Given the description of an element on the screen output the (x, y) to click on. 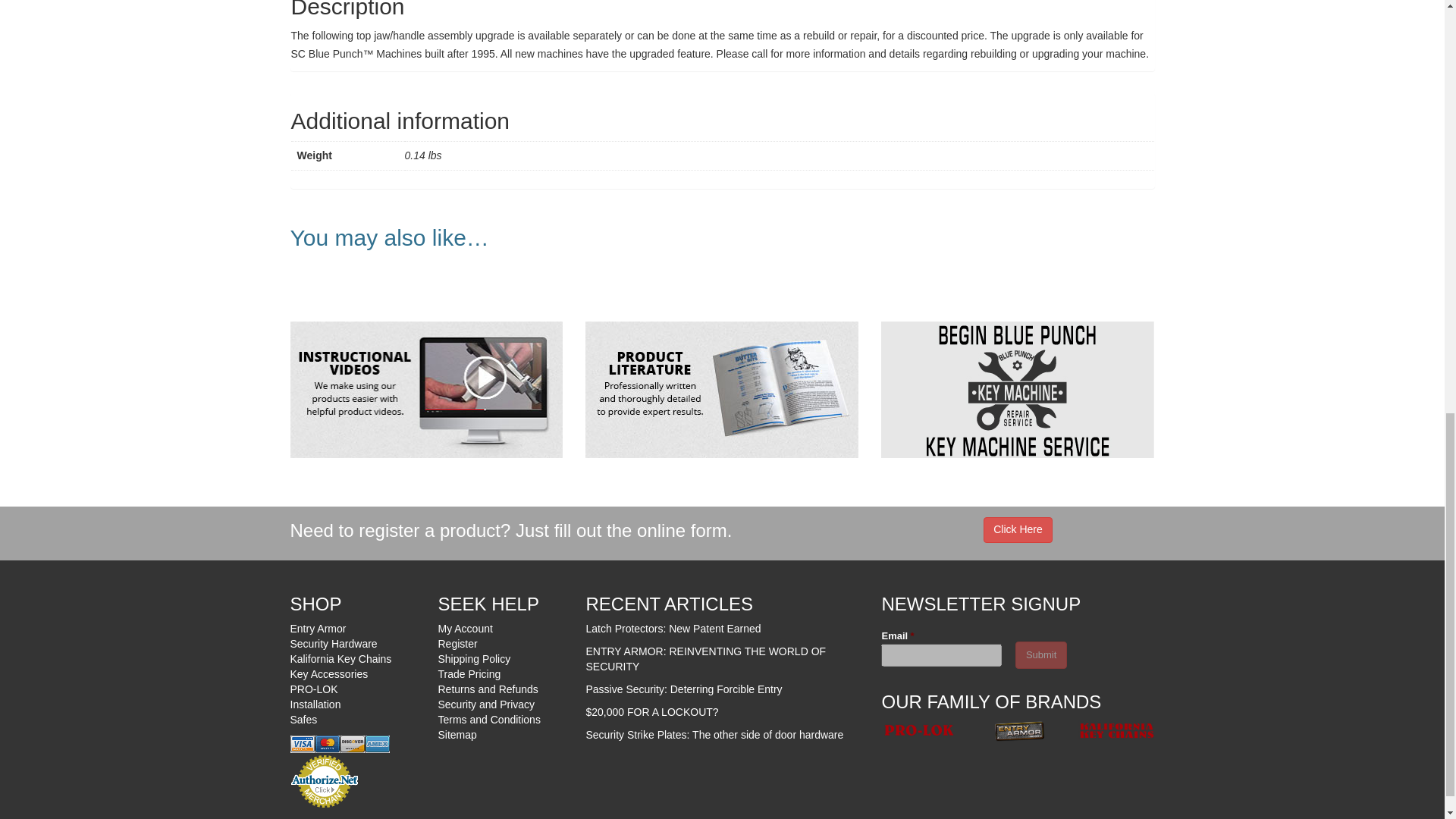
Major Credit Cards Accepted (338, 744)
Submit (1040, 655)
